Given the description of an element on the screen output the (x, y) to click on. 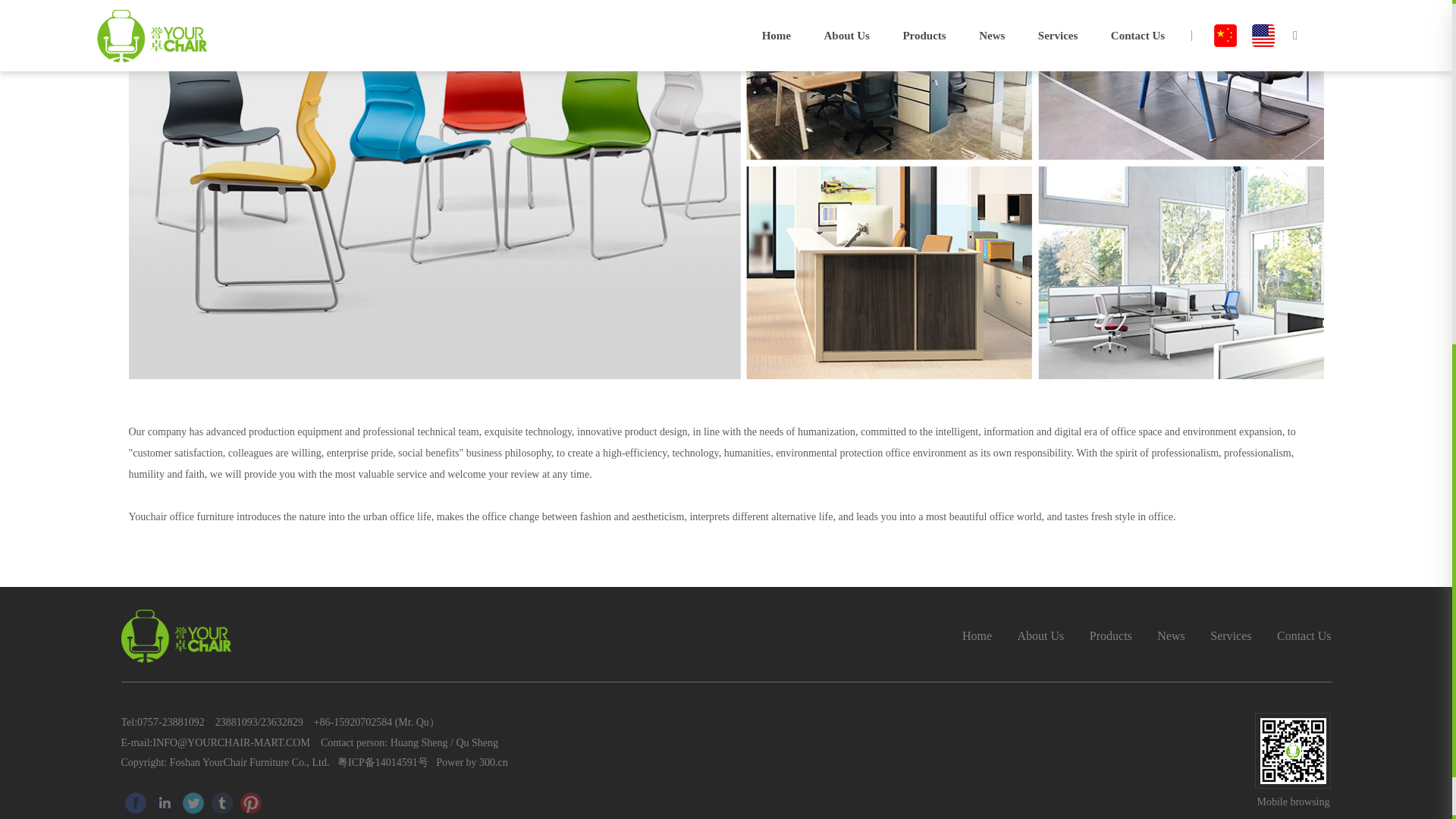
Tumblr (221, 803)
Twitter (192, 803)
Pinterest (250, 803)
Linkedin (163, 803)
Facebook (134, 803)
qr (1292, 750)
yourchair (175, 635)
